Given the description of an element on the screen output the (x, y) to click on. 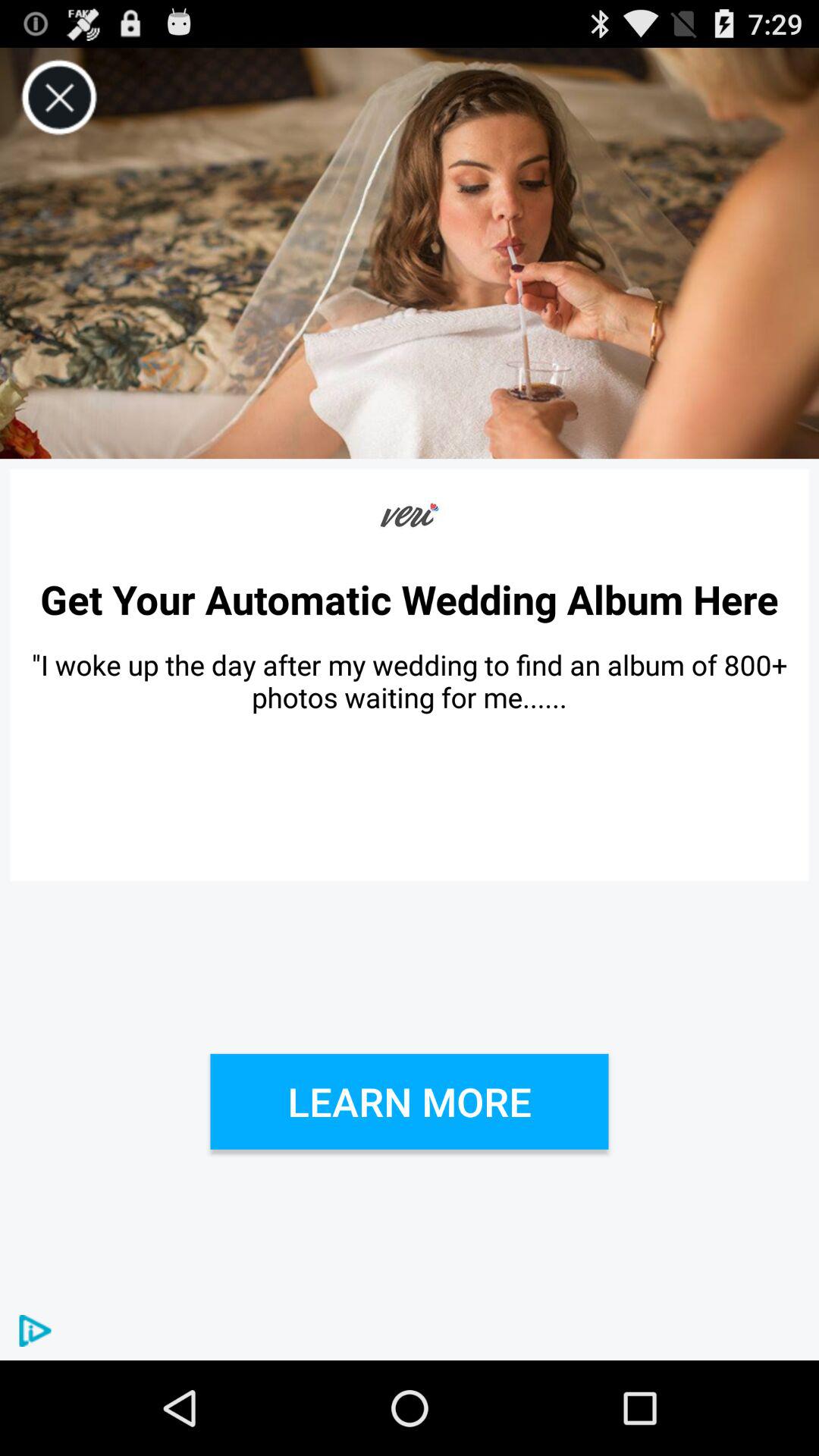
press the icon below i woke up (409, 1101)
